Given the description of an element on the screen output the (x, y) to click on. 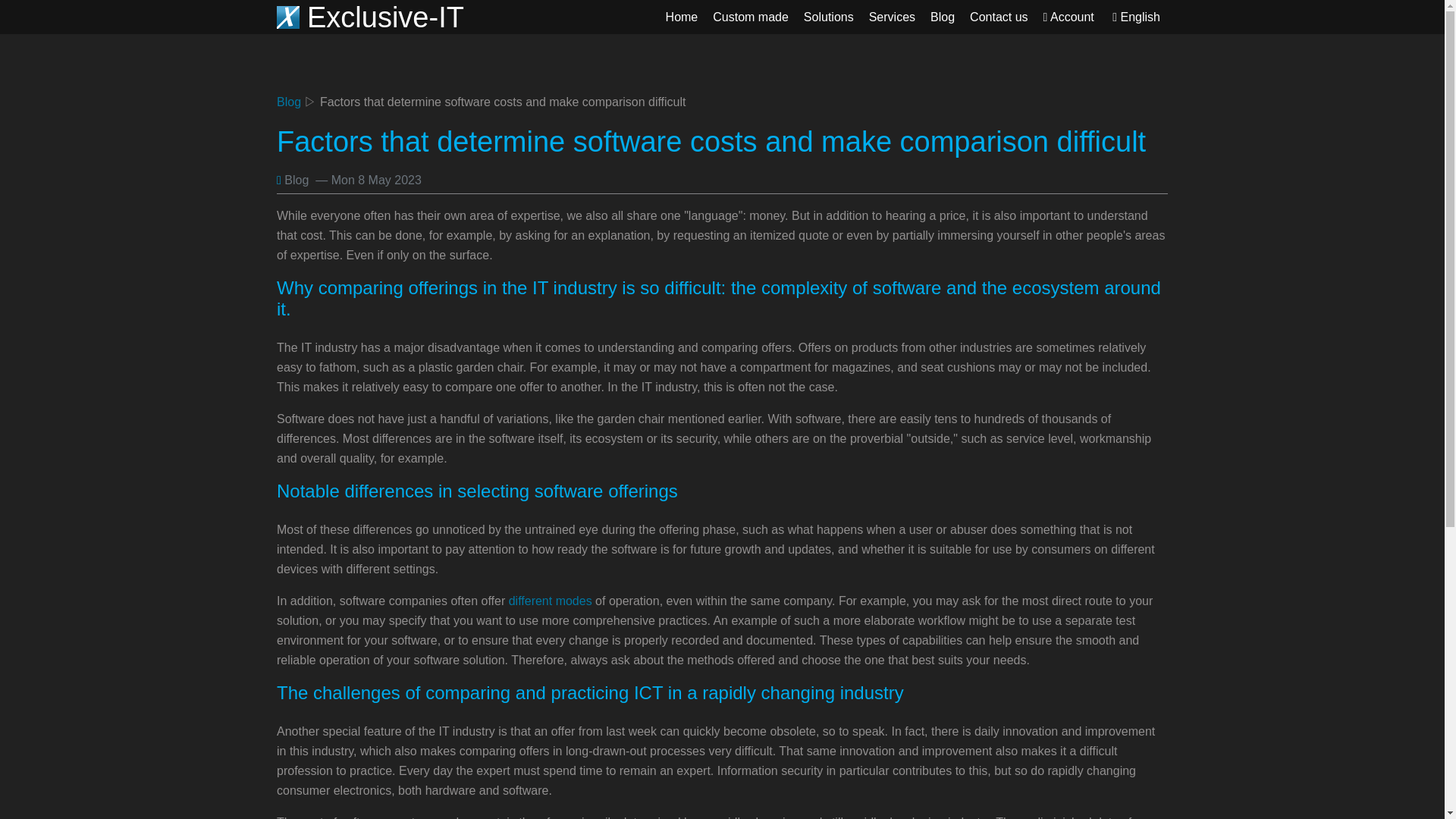
Contact us (998, 17)
Custom made (750, 17)
Blog (288, 101)
Services (892, 17)
English (1136, 17)
Home (682, 17)
different modes (550, 600)
Account (1068, 17)
Blog (942, 17)
Exclusive-IT (370, 22)
Solutions (828, 17)
